Given the description of an element on the screen output the (x, y) to click on. 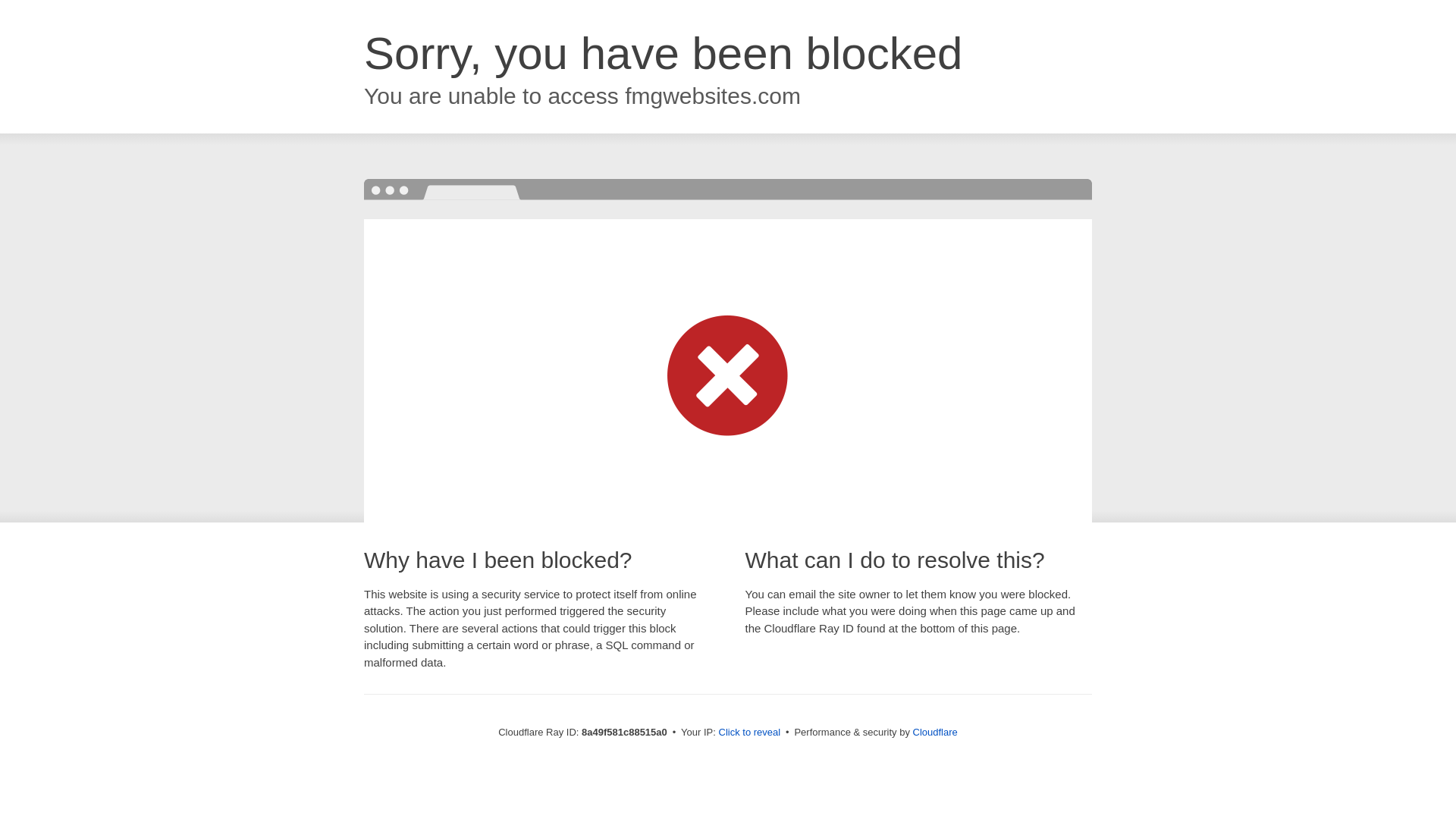
Cloudflare (935, 731)
Click to reveal (749, 732)
